Given the description of an element on the screen output the (x, y) to click on. 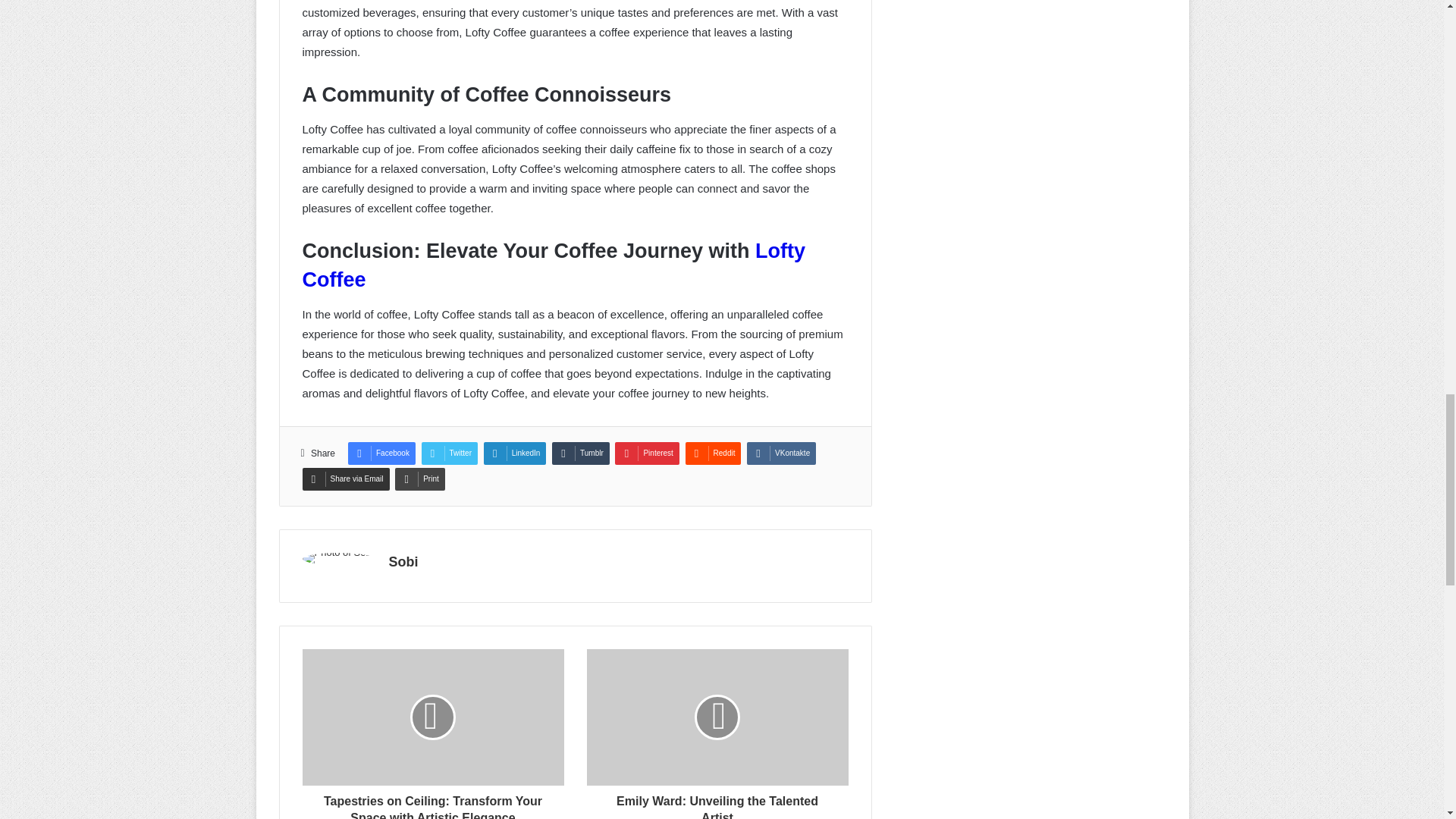
LinkedIn (515, 453)
Twitter (449, 453)
Lofty Coffee (553, 265)
Facebook (380, 453)
